Given the description of an element on the screen output the (x, y) to click on. 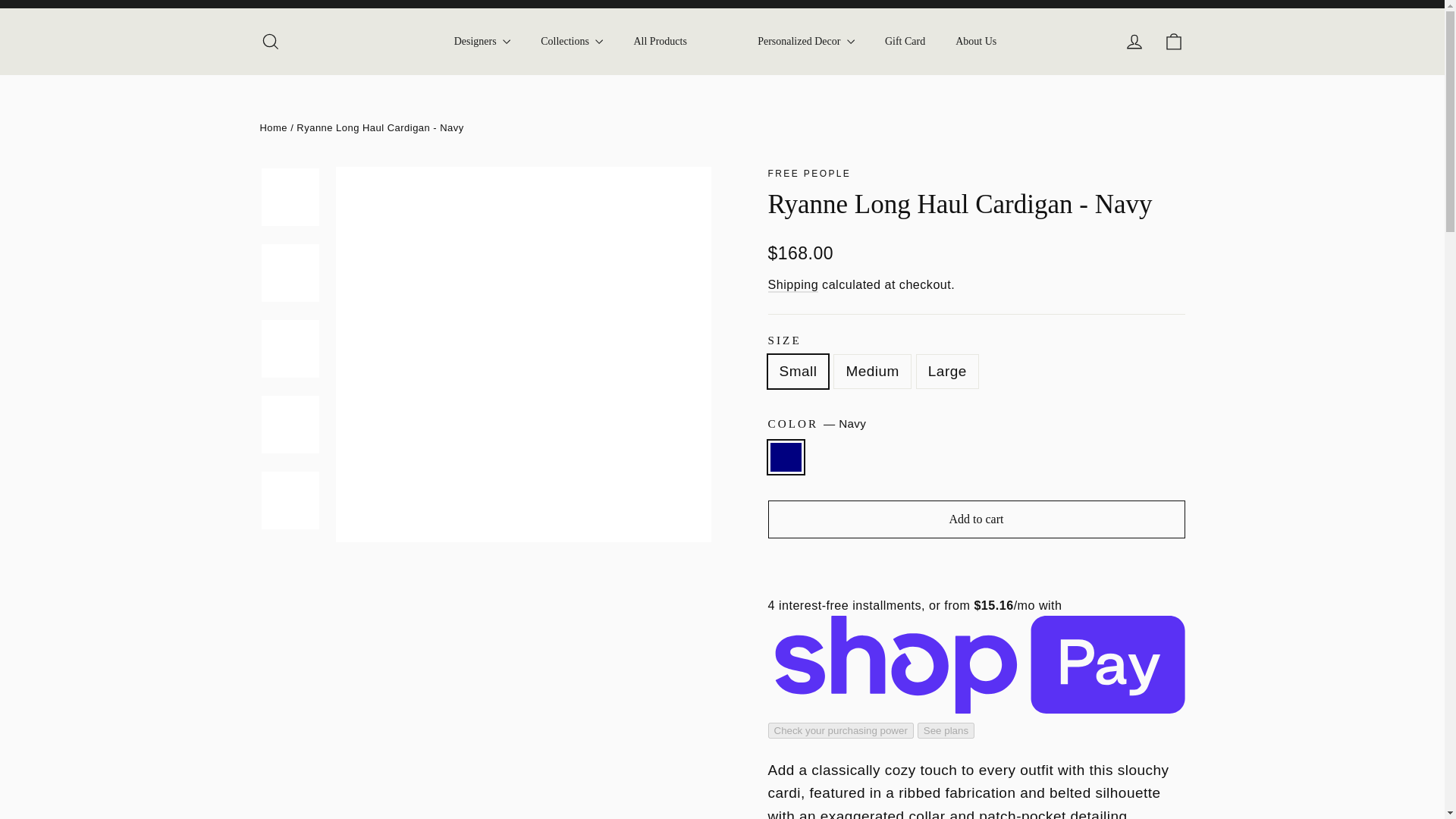
icon-search (270, 41)
icon-bag-minimal (1174, 41)
Back to the frontpage (272, 127)
account (1134, 41)
